Given the description of an element on the screen output the (x, y) to click on. 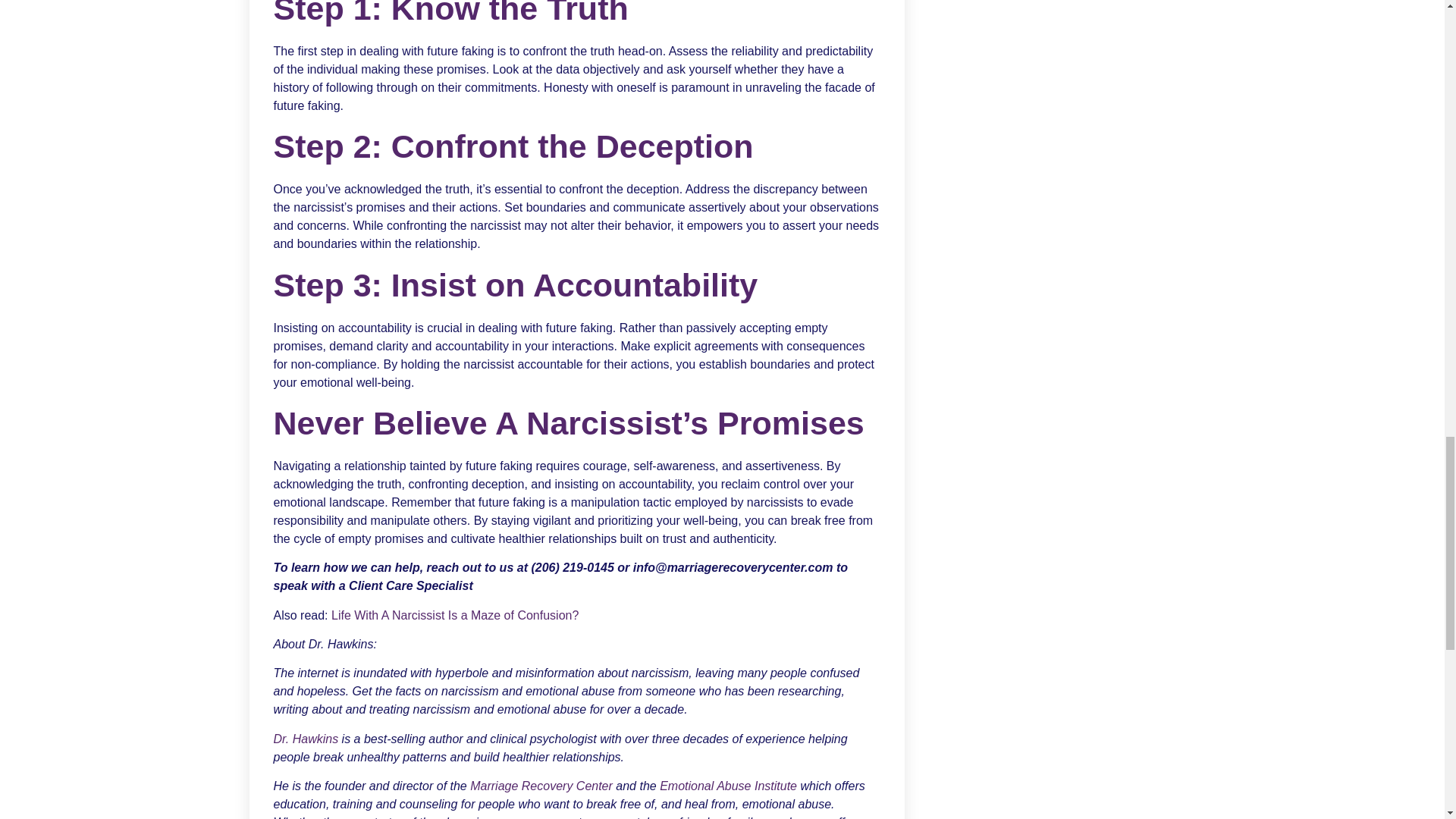
Emotional Abuse Institute (727, 785)
Life With A Narcissist Is a Maze of Confusion? (454, 615)
Dr. Hawkins (305, 738)
Marriage Recovery Center (541, 785)
